Given the description of an element on the screen output the (x, y) to click on. 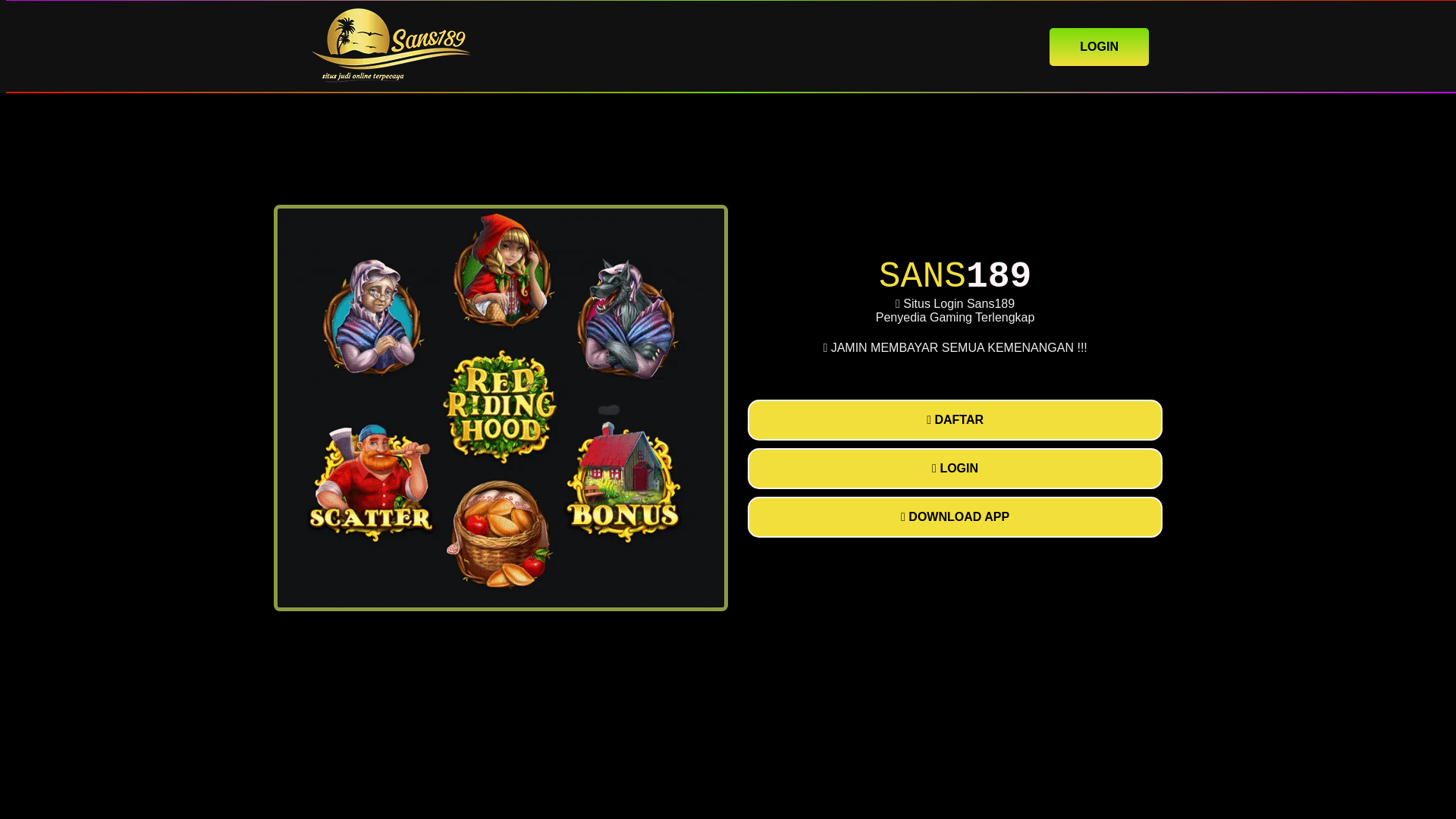
DOWNLOAD APP (954, 516)
LOGIN (1098, 46)
LOGIN (954, 467)
DAFTAR (954, 419)
